Given the description of an element on the screen output the (x, y) to click on. 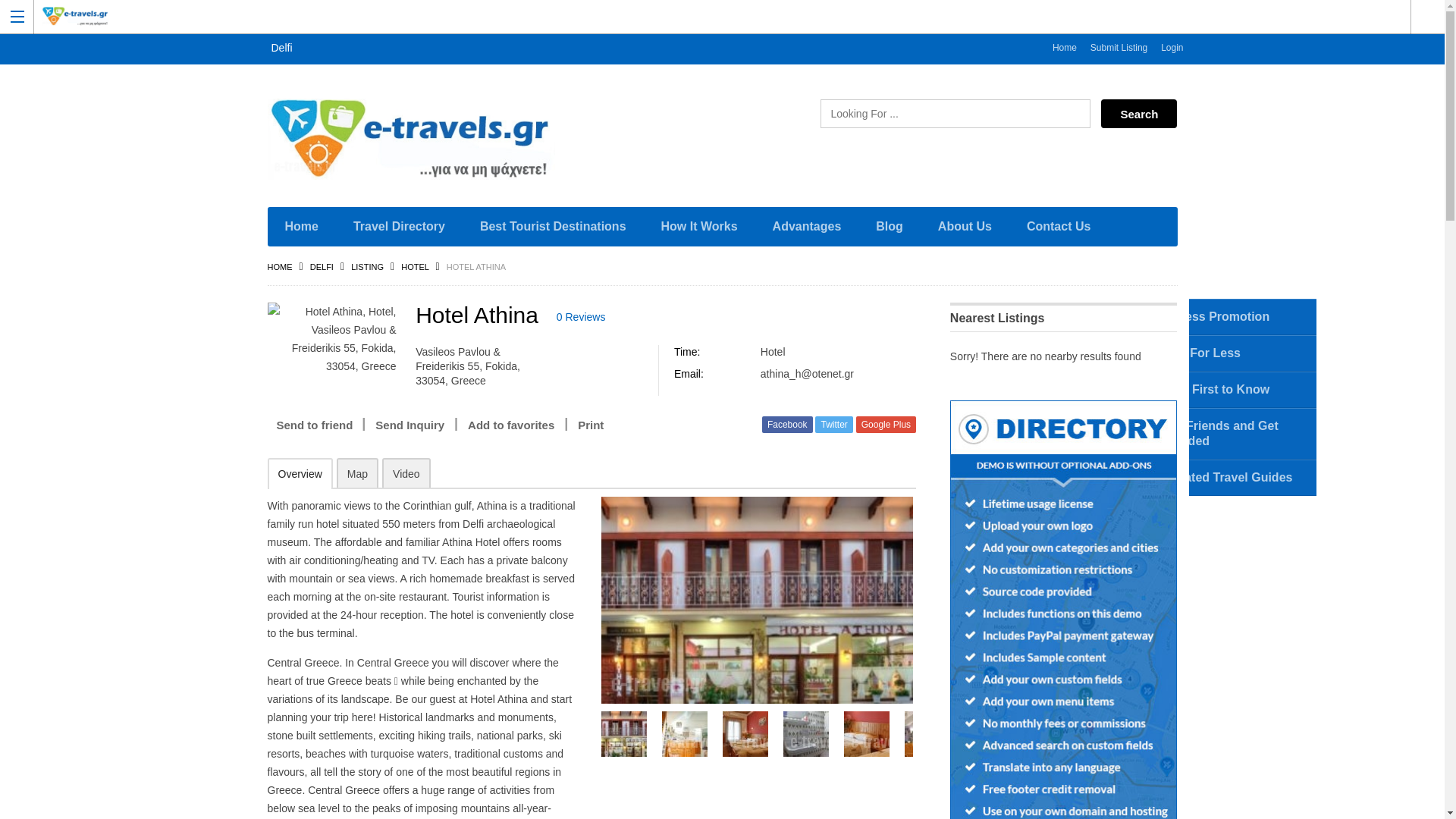
Home (1063, 47)
Home (300, 226)
Delfi (321, 266)
Mail to a friend (313, 424)
How It Works (699, 226)
Send Inquiry (409, 424)
Listing (367, 266)
Why We Are Different (734, 306)
Best Tourist Destinations (553, 226)
Submit Listing (1118, 47)
Add to favorites (510, 424)
Search (1138, 113)
Login (1172, 47)
